Given the description of an element on the screen output the (x, y) to click on. 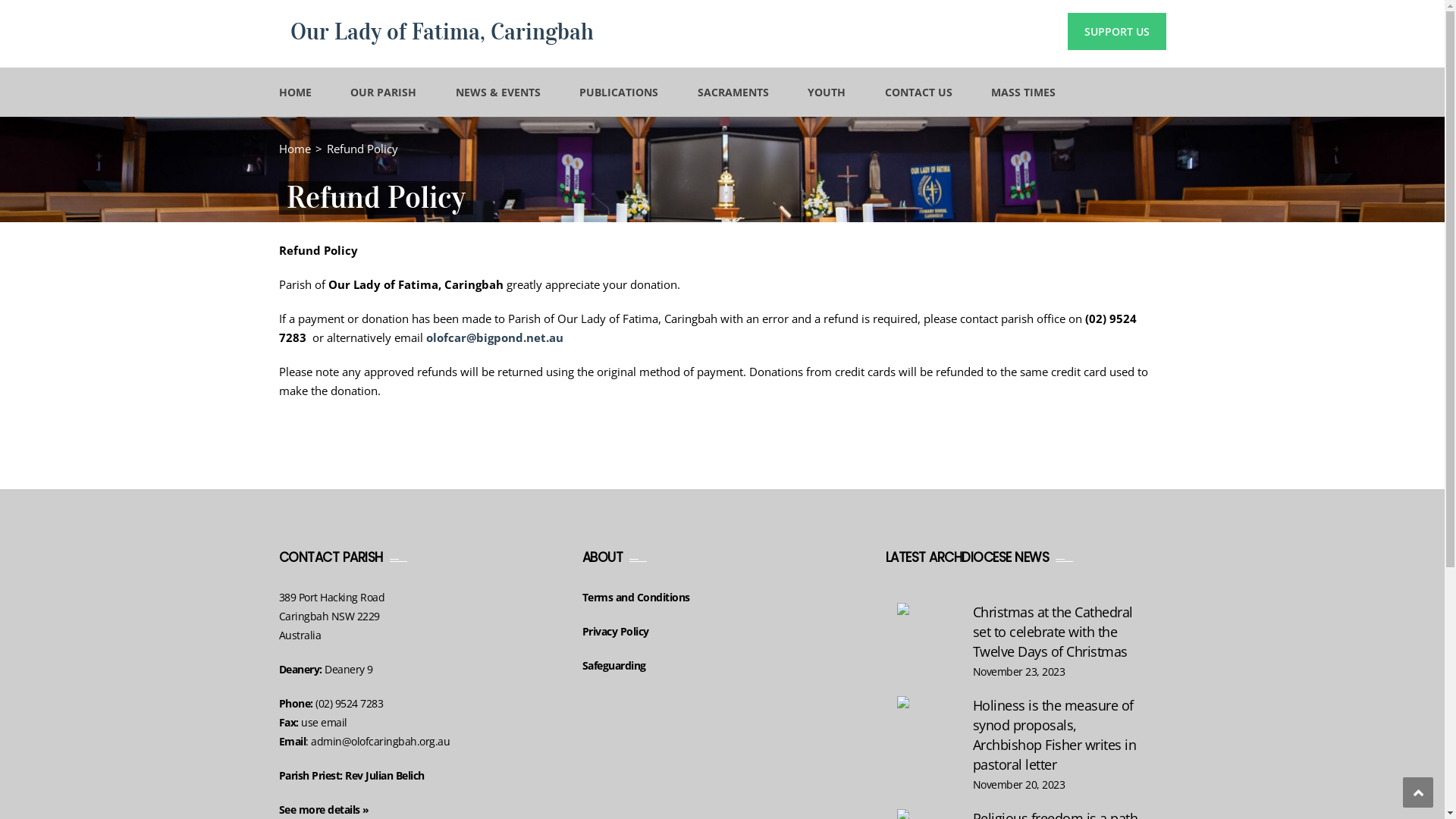
Privacy Policy Element type: text (615, 631)
SACRAMENTS Element type: text (732, 91)
admin@olofcaringbah.org.au Element type: text (379, 741)
MASS TIMES Element type: text (1023, 91)
Our Lady of Fatima, Caringbah Element type: text (441, 31)
SUPPORT US Element type: text (1116, 31)
CONTACT US Element type: text (917, 91)
Search Element type: text (1144, 160)
olofcar@bigpond.net.au Element type: text (494, 337)
Home Element type: text (294, 148)
PUBLICATIONS Element type: text (618, 91)
See more details Element type: text (319, 809)
OUR PARISH Element type: text (383, 91)
HOME Element type: text (295, 91)
Safeguarding Element type: text (614, 665)
NEWS & EVENTS Element type: text (497, 91)
YOUTH Element type: text (826, 91)
Terms and Conditions Element type: text (636, 596)
